Given the description of an element on the screen output the (x, y) to click on. 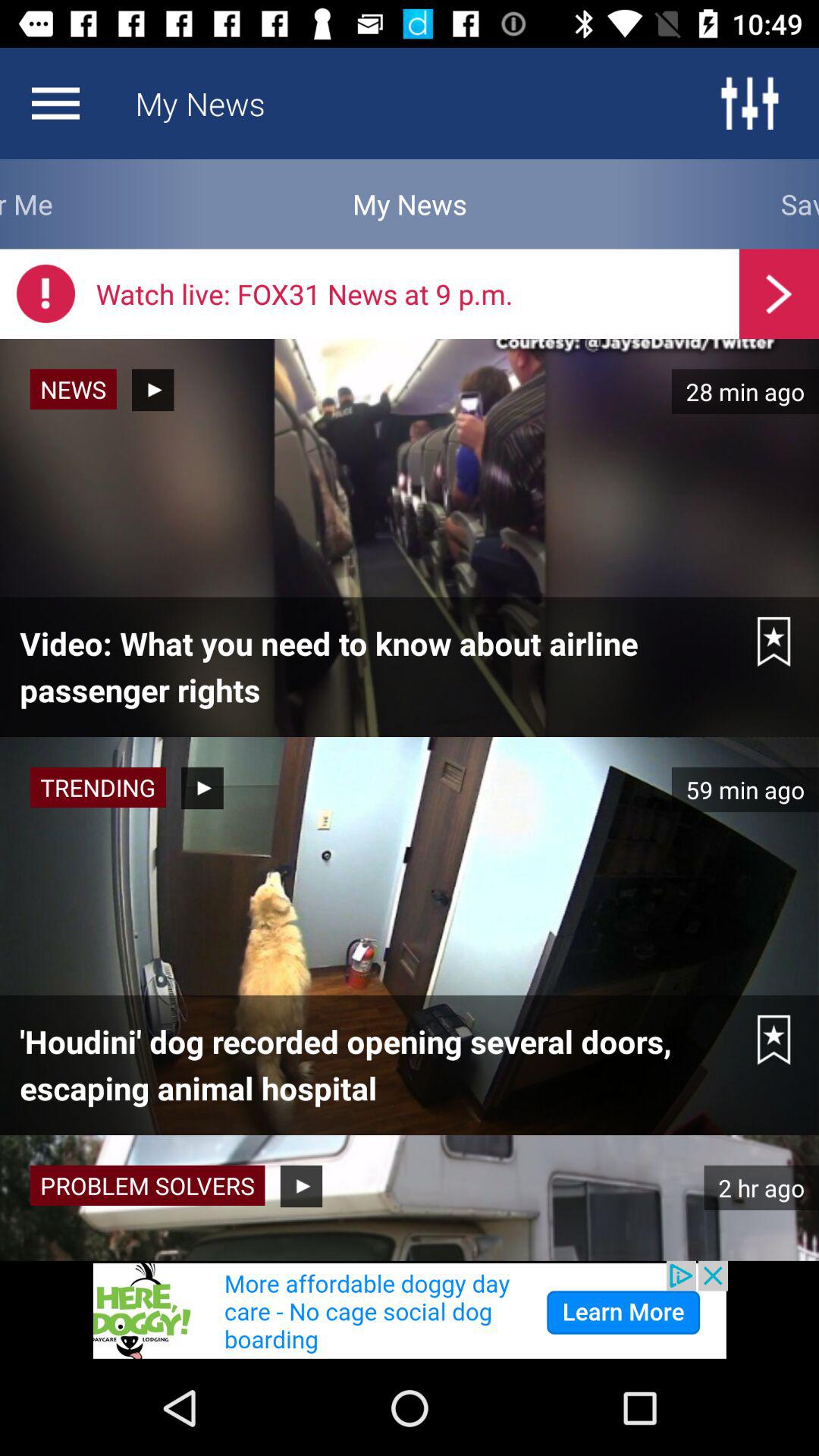
view news settings (55, 103)
